Given the description of an element on the screen output the (x, y) to click on. 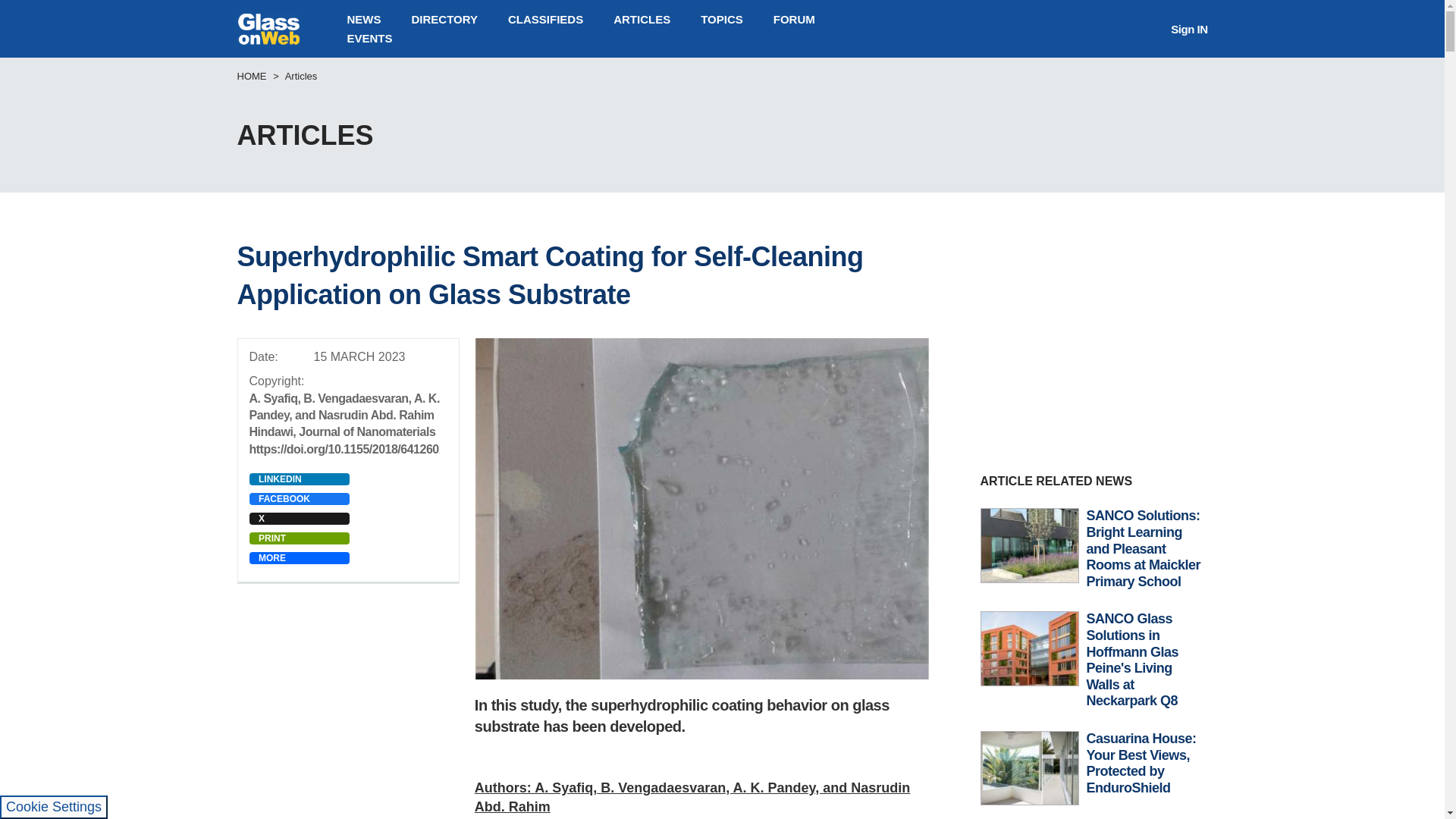
LINKEDIN (298, 479)
Articles (301, 75)
Cookie Settings (53, 807)
DIRECTORY (444, 19)
EVENTS (369, 38)
3rd party ad content (721, 128)
CLASSIFIEDS (545, 19)
FACEBOOK (298, 499)
MORE (298, 558)
